Given the description of an element on the screen output the (x, y) to click on. 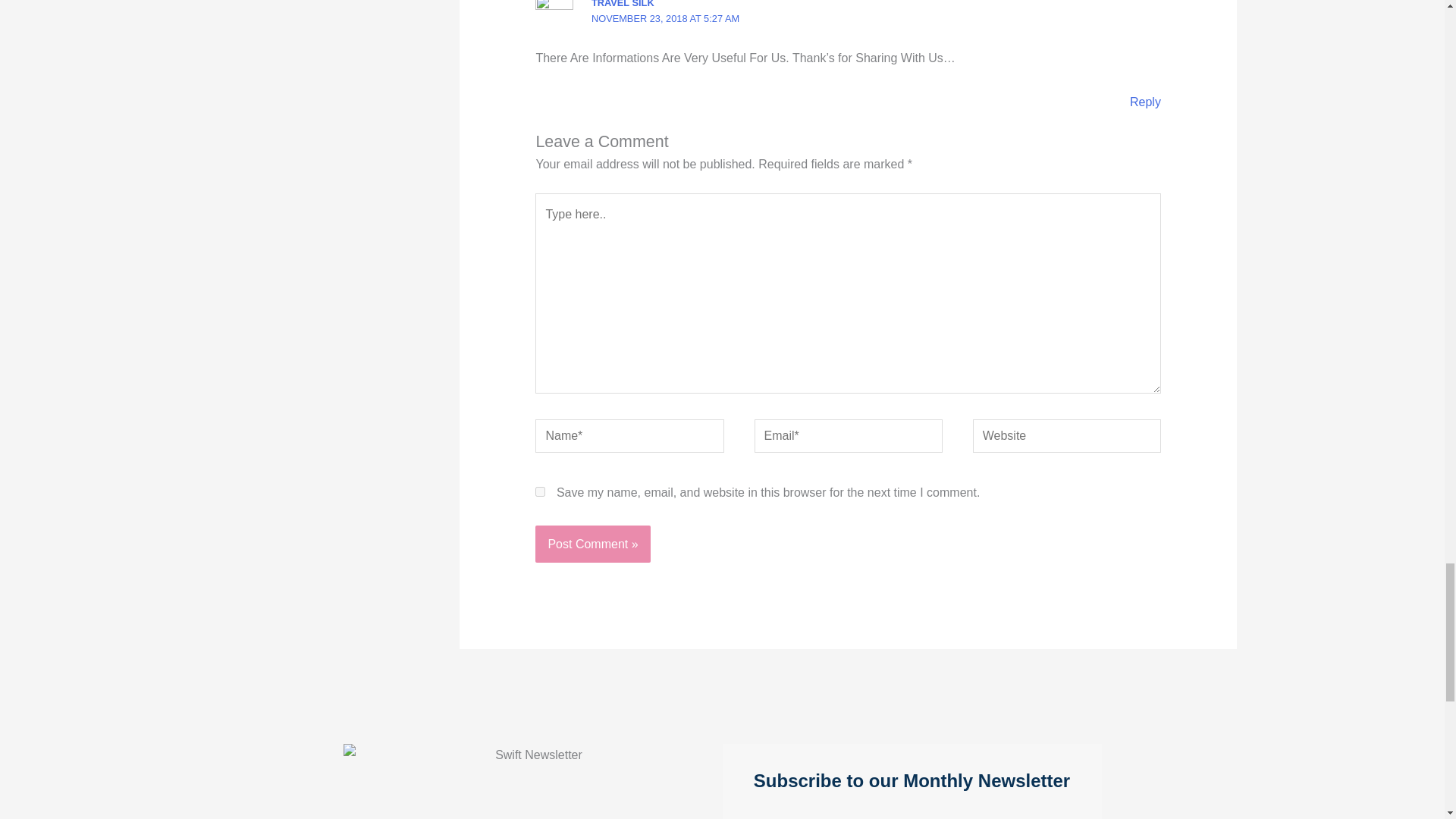
yes (539, 491)
